Given the description of an element on the screen output the (x, y) to click on. 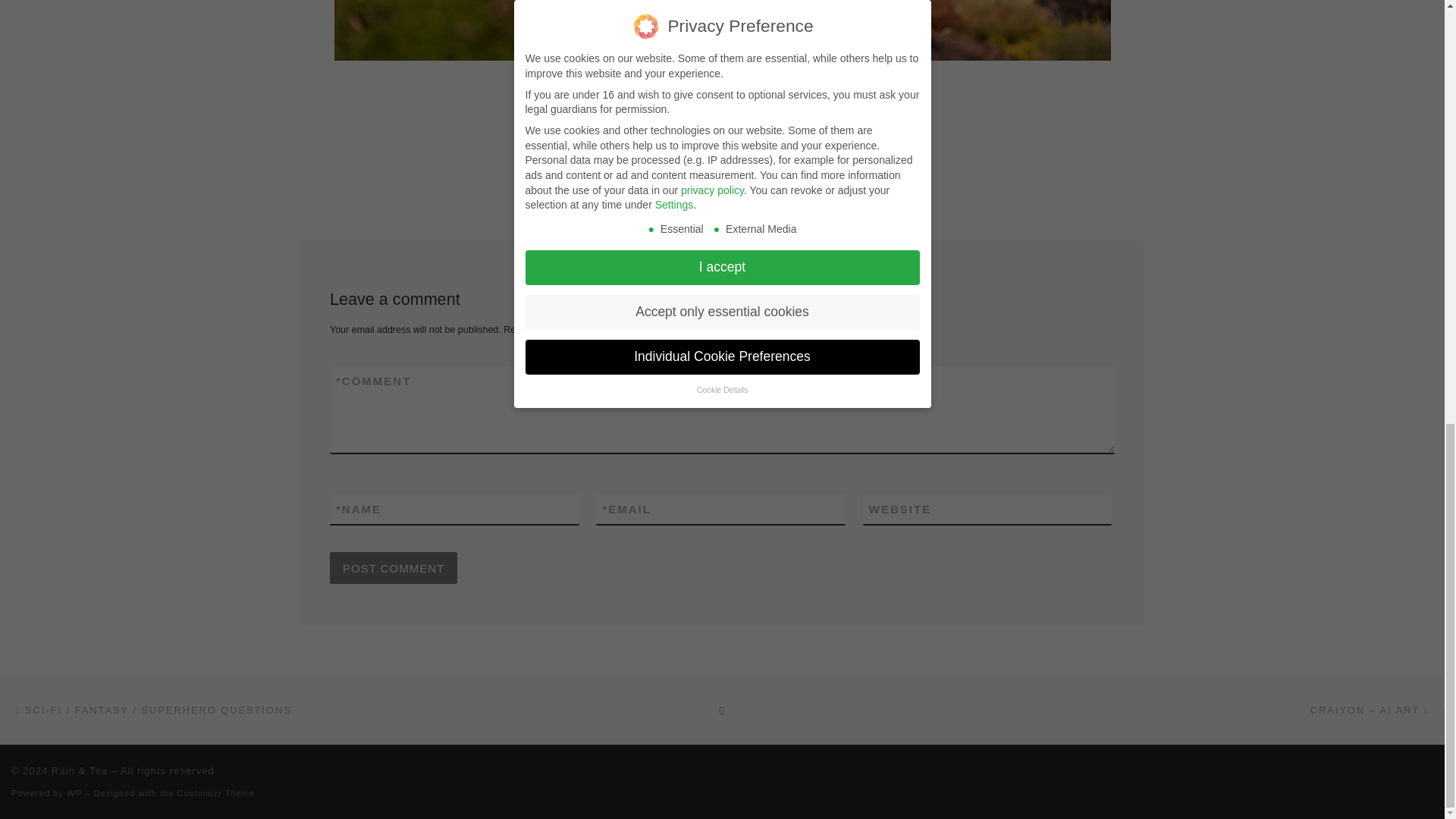
Powered by WordPress (73, 792)
Customizr Theme (216, 792)
Post Comment (393, 567)
